Given the description of an element on the screen output the (x, y) to click on. 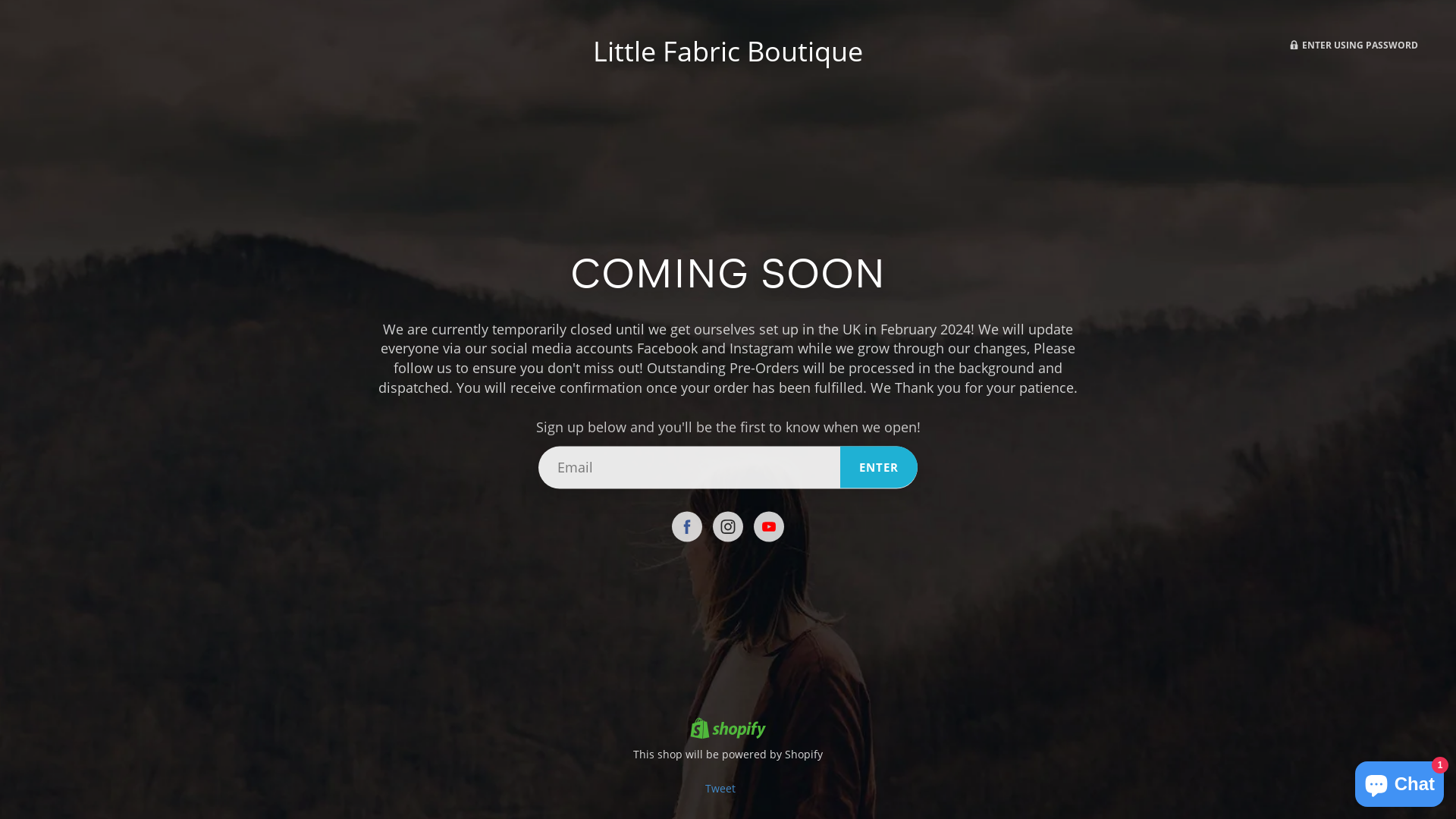
Instagram Element type: hover (727, 526)
Shopify online store chat Element type: hover (1399, 780)
Shopify logo Element type: text (727, 730)
Tweet Element type: text (720, 788)
ENTER Element type: text (878, 467)
YouTube Element type: hover (768, 526)
Facebook Element type: hover (686, 526)
ENTER USING PASSWORD Element type: text (1353, 44)
